Given the description of an element on the screen output the (x, y) to click on. 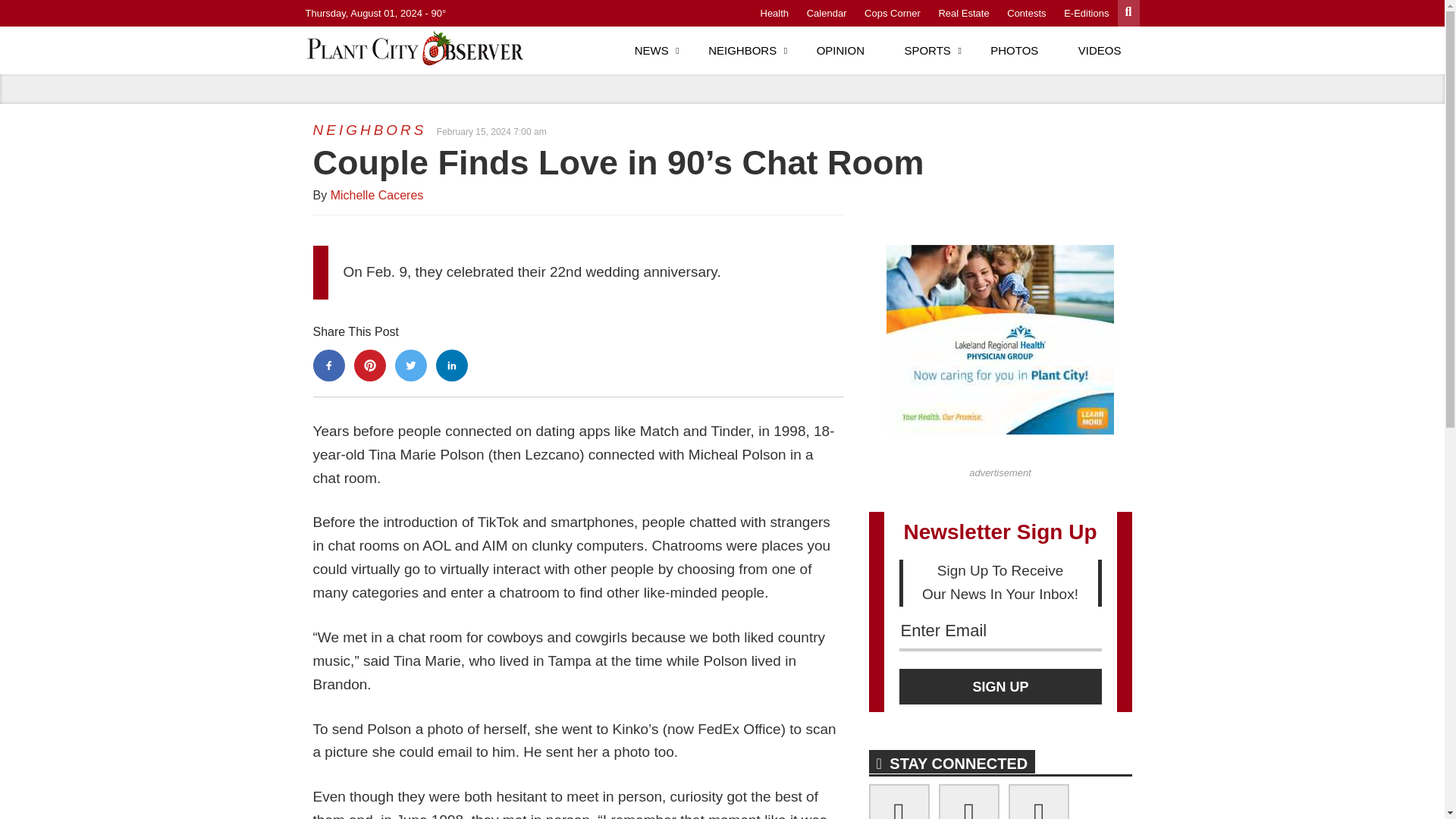
Cops Corner (892, 12)
NEIGHBORS (742, 50)
VIDEOS (1099, 50)
Plant City Observer (418, 47)
Contests (1026, 12)
SIGN UP (1000, 686)
PHOTOS (1014, 50)
Michelle Caceres (376, 195)
Calendar (826, 12)
Real Estate (962, 12)
Health (774, 12)
NEIGHBORS (369, 130)
NEWS (651, 50)
SPORTS (926, 50)
